Given the description of an element on the screen output the (x, y) to click on. 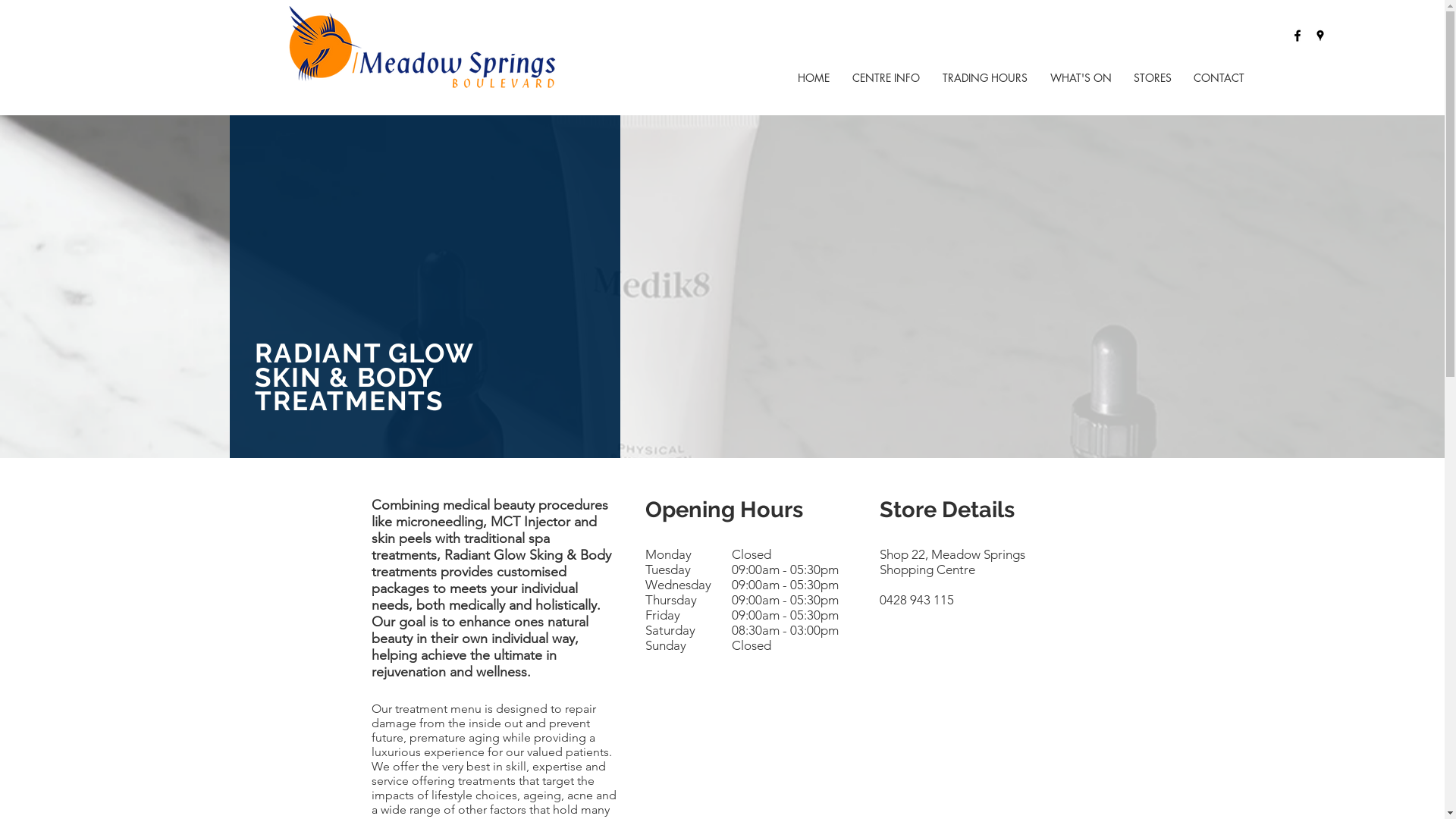
CENTRE INFO Element type: text (885, 78)
STORES Element type: text (1152, 78)
TRADING HOURS Element type: text (984, 78)
0428 943 115 Element type: text (916, 599)
CONTACT Element type: text (1218, 78)
HOME Element type: text (813, 78)
WHAT'S ON Element type: text (1080, 78)
